Given the description of an element on the screen output the (x, y) to click on. 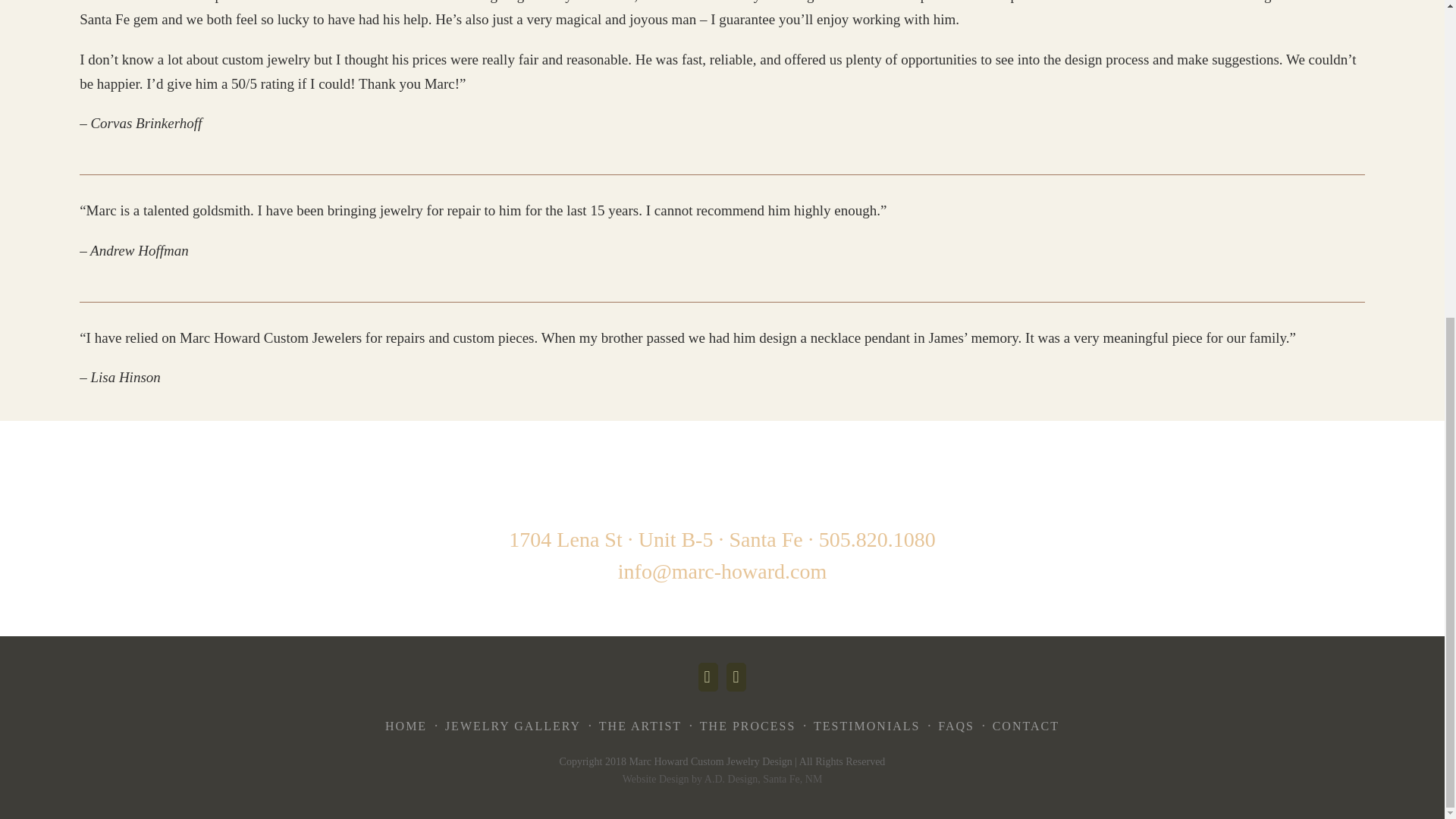
THE ARTIST (639, 725)
TESTIMONIALS (866, 725)
HOME (405, 725)
CONTACT (1025, 725)
Website Design by A.D. Design, Santa Fe, NM (722, 778)
FAQS (955, 725)
THE PROCESS (747, 725)
JEWELRY GALLERY (512, 725)
